Given the description of an element on the screen output the (x, y) to click on. 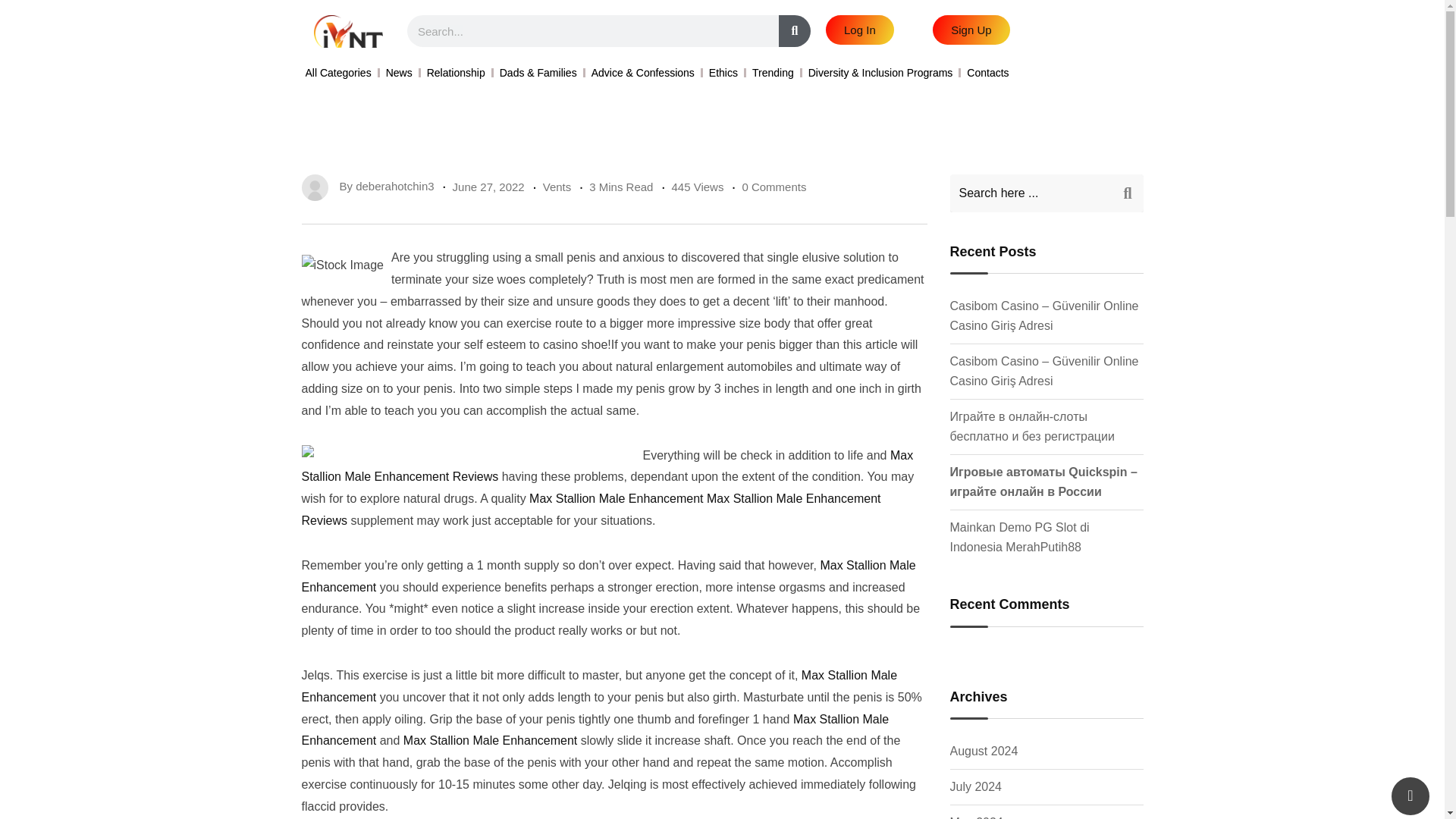
Vents (557, 186)
Contacts (987, 72)
Log In (859, 30)
Max Stallion Male Enhancement (595, 729)
Ethics (723, 72)
Max Stallion Male Enhancement Reviews (590, 509)
News (398, 72)
Max Stallion Male Enhancement (608, 575)
Max Stallion Male Enhancement Reviews (607, 466)
Relationship (455, 72)
